Given the description of an element on the screen output the (x, y) to click on. 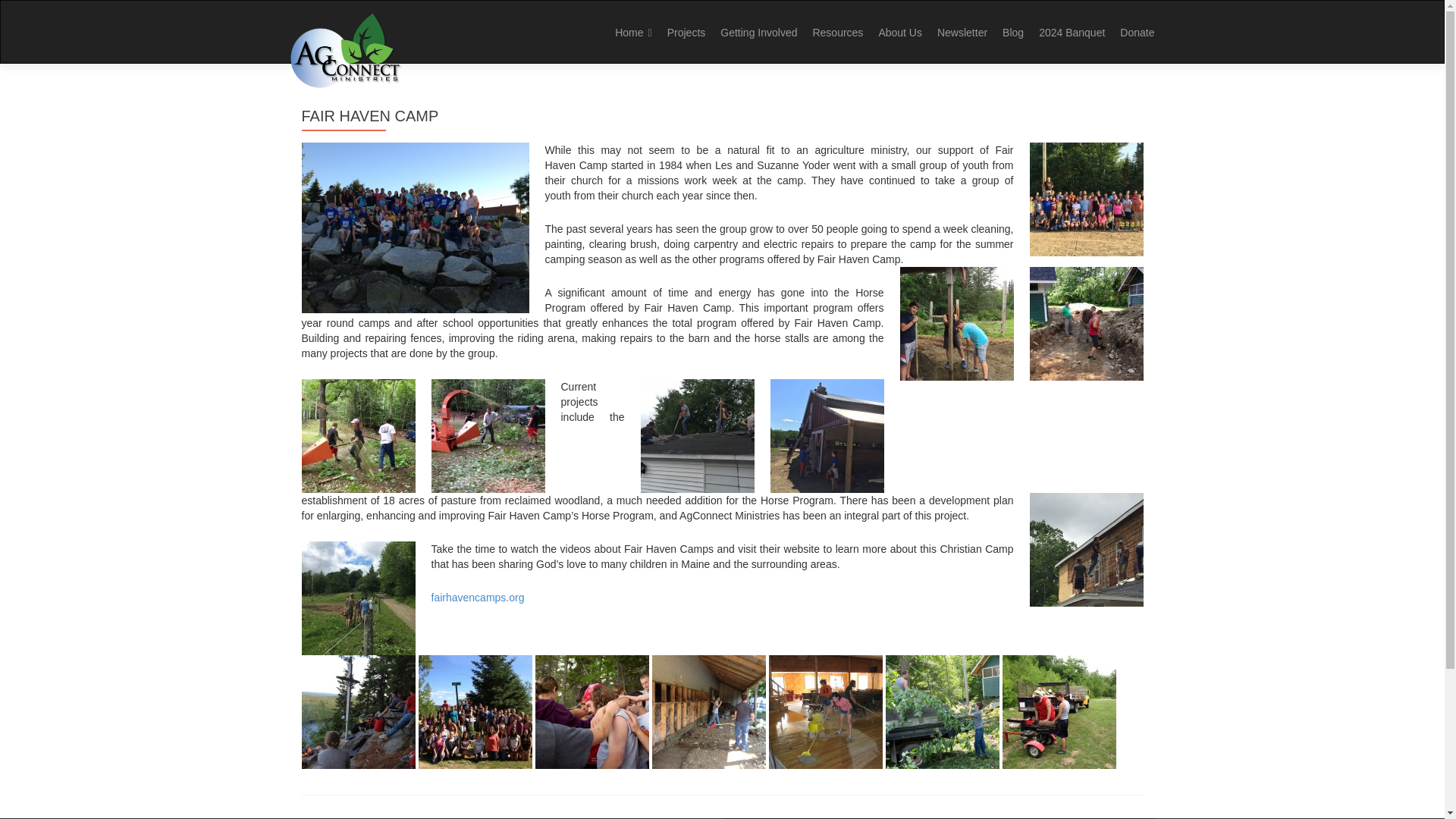
Home (632, 32)
About Us (899, 32)
fairhavencamps.org (477, 597)
Resources (837, 32)
Newsletter (962, 32)
Projects (686, 32)
2024 Banquet (1072, 32)
Getting Involved (758, 32)
Donate (1136, 32)
